Given the description of an element on the screen output the (x, y) to click on. 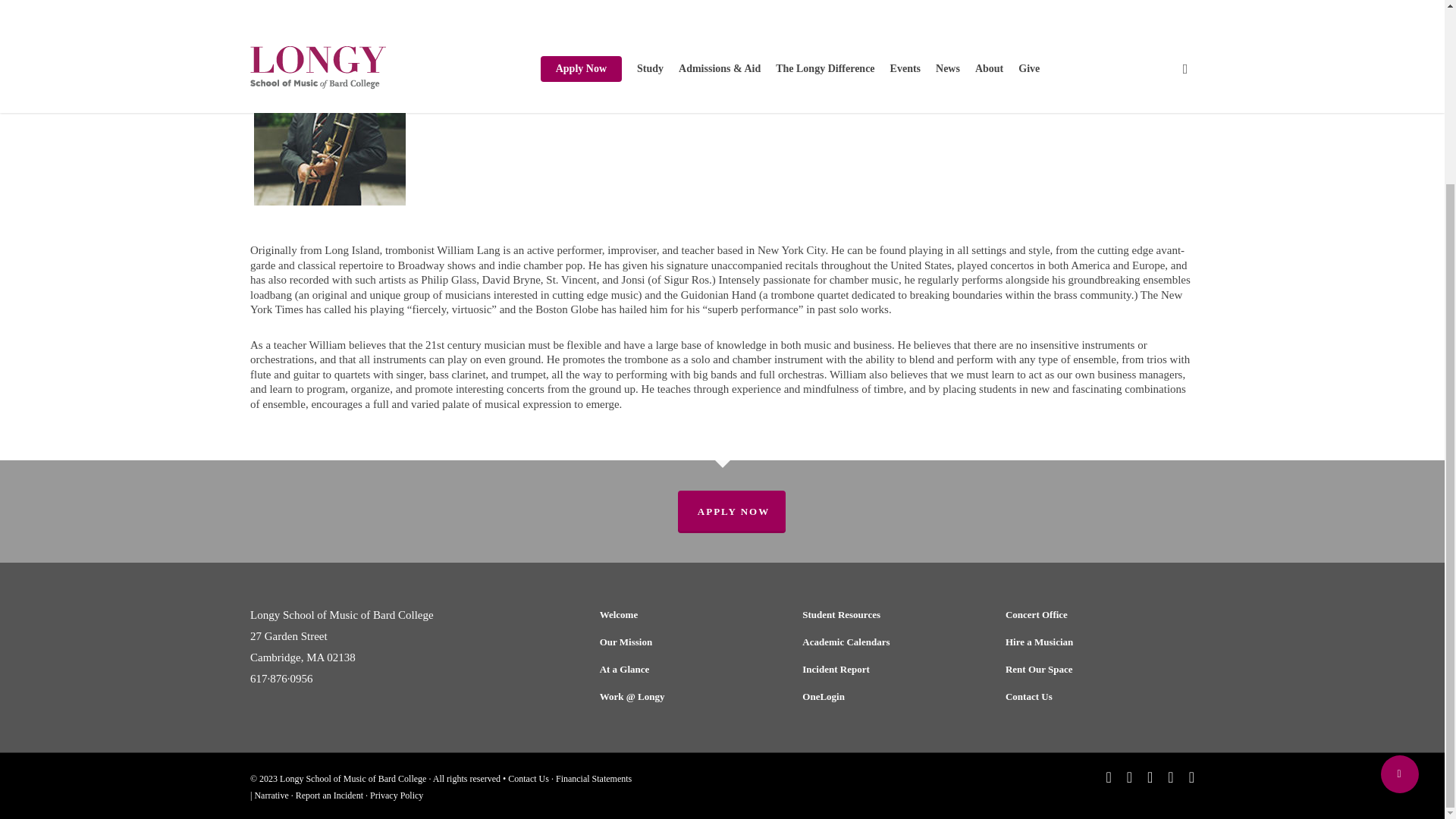
Rent Our Space (1097, 669)
Student Resources (894, 614)
Academic Calendars (894, 641)
 APPLY NOW (732, 511)
At a Glance (691, 669)
OneLogin (894, 696)
Incident Report (894, 669)
Welcome (691, 614)
Financial Statements (593, 778)
Hire a Musician (1097, 641)
